Given the description of an element on the screen output the (x, y) to click on. 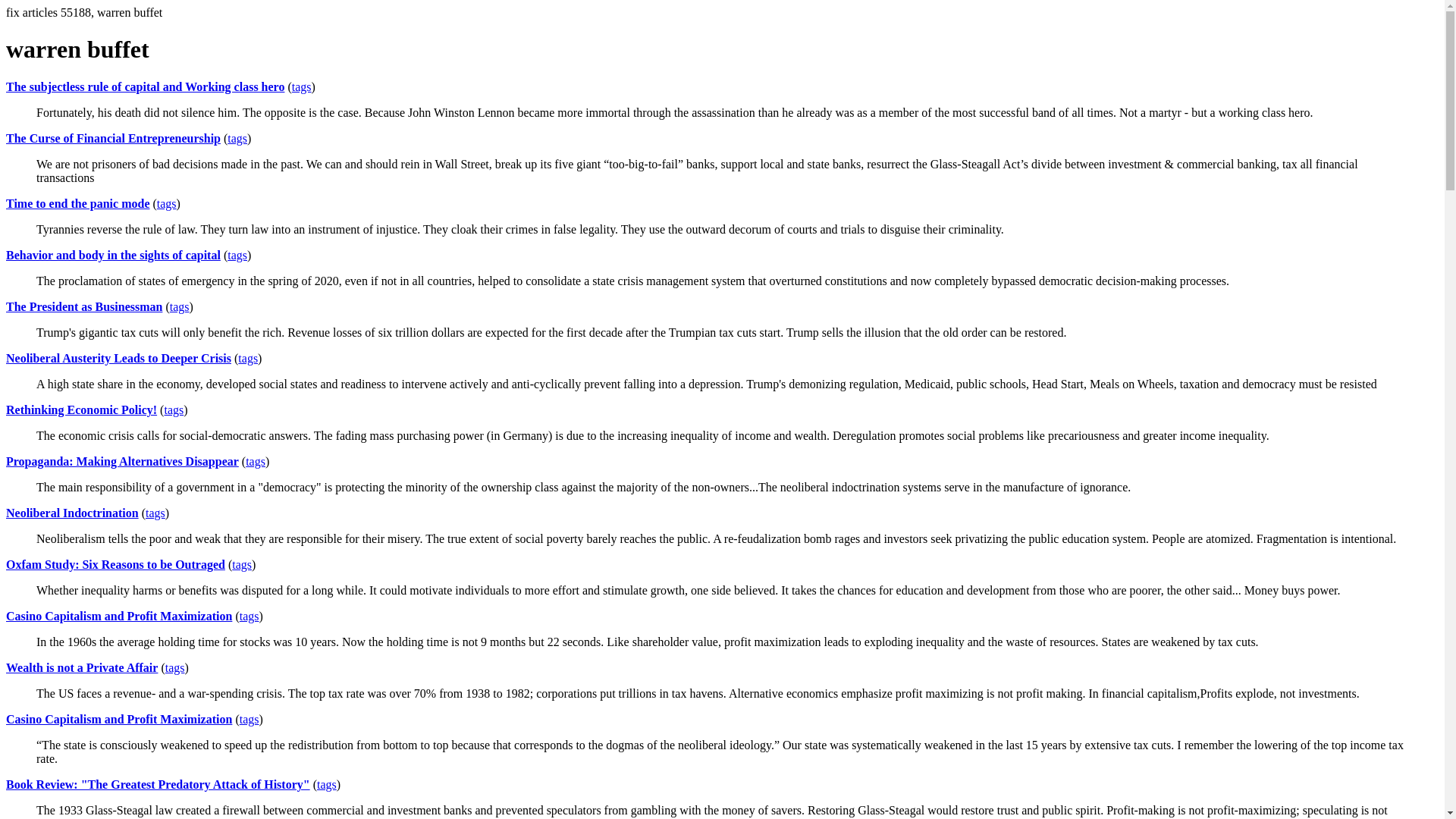
Neoliberal Austerity Leads to Deeper Crisis (118, 358)
Wealth is not a Private Affair (81, 667)
The Curse of Financial Entrepreneurship (113, 137)
The President as Businessman (83, 306)
Casino Capitalism and Profit Maximization (118, 615)
tags (237, 254)
Propaganda: Making Alternatives Disappear (121, 461)
Neoliberal Indoctrination (71, 512)
tags (166, 203)
tags (249, 718)
tags (237, 137)
tags (247, 358)
tags (241, 563)
Behavior and body in the sights of capital (113, 254)
tags (301, 86)
